Given the description of an element on the screen output the (x, y) to click on. 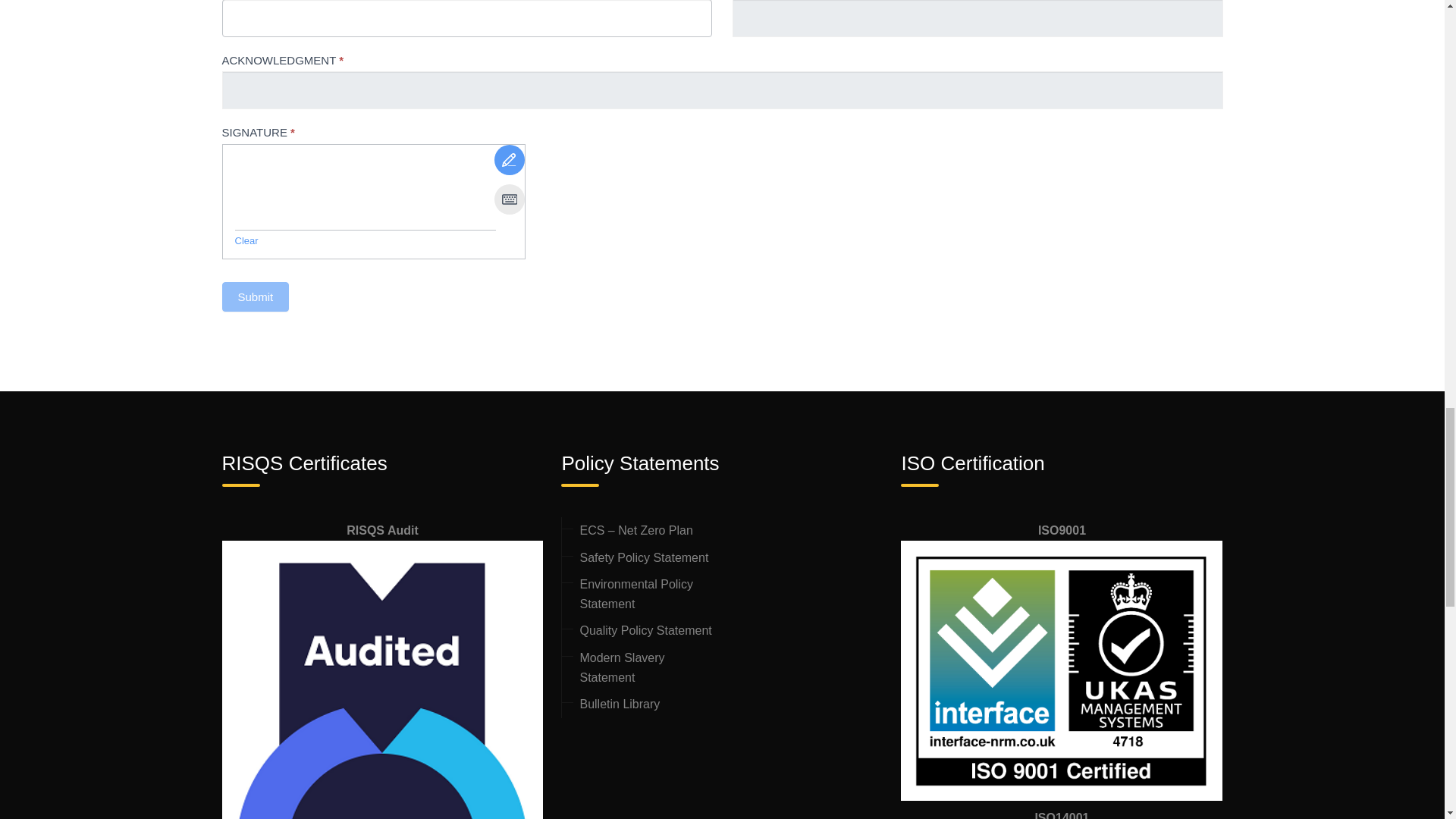
Environmental Policy Statement (636, 594)
Modern Slavery Statement (621, 667)
Quality Policy Statement (645, 630)
Draw It (509, 159)
Bulletin Library (619, 703)
Safety Policy Statement (643, 557)
Type It (509, 199)
Clear (246, 240)
Submit (254, 296)
